Given the description of an element on the screen output the (x, y) to click on. 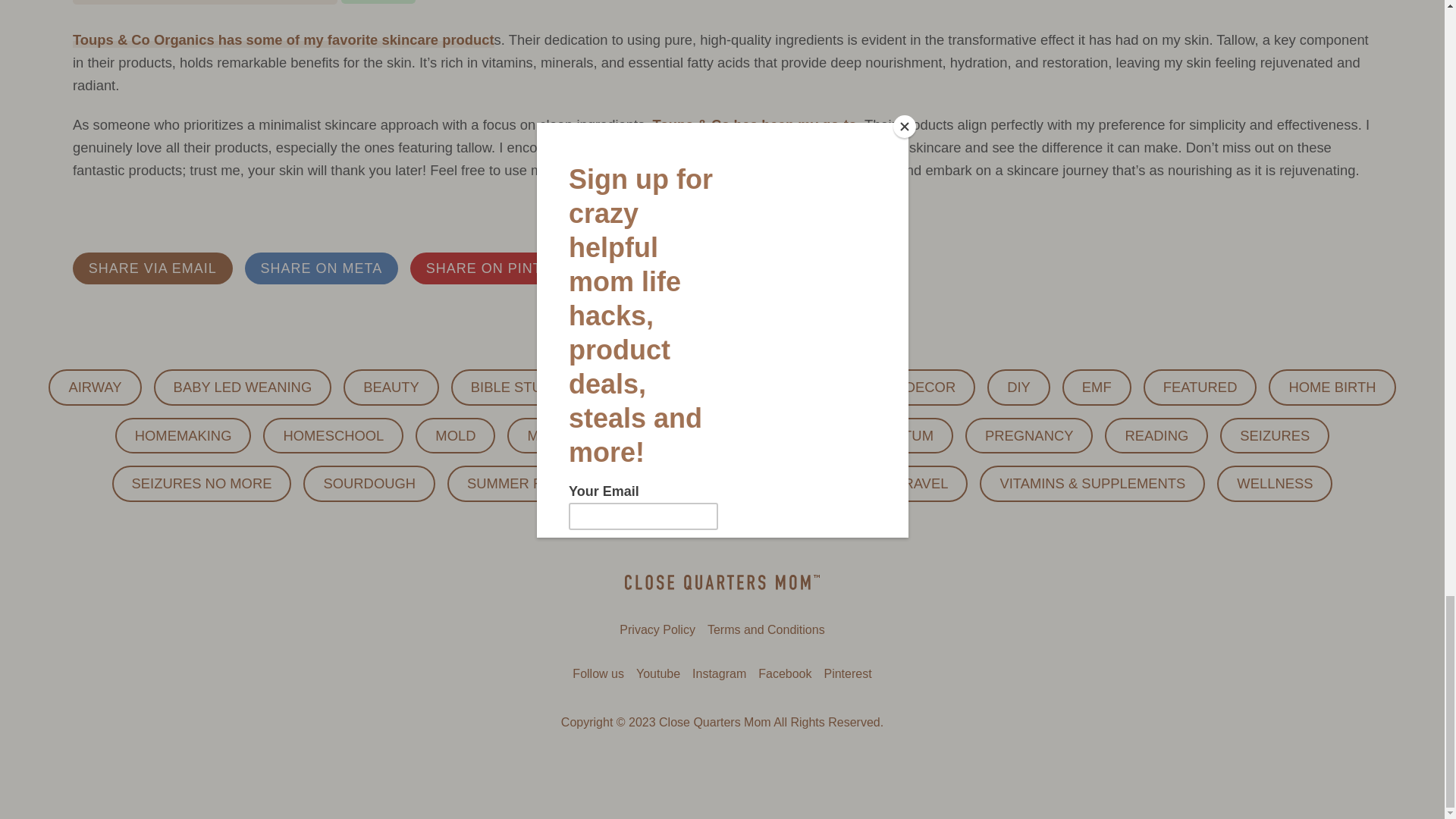
Email this post (152, 268)
DIY (1018, 387)
ORGANIZATION (733, 435)
DECOR (930, 387)
POSTPARTUM (885, 435)
SUMMER FUN (513, 484)
BIBLE STUDY (515, 387)
BEAUTY (391, 387)
BABY LED WEANING (242, 387)
EMF (1096, 387)
HOMESCHOOL (333, 435)
PREGNANCY (1029, 435)
MOTHERHOOD (577, 435)
SHARE VIA EMAIL (152, 268)
FEATURED (1199, 387)
